Given the description of an element on the screen output the (x, y) to click on. 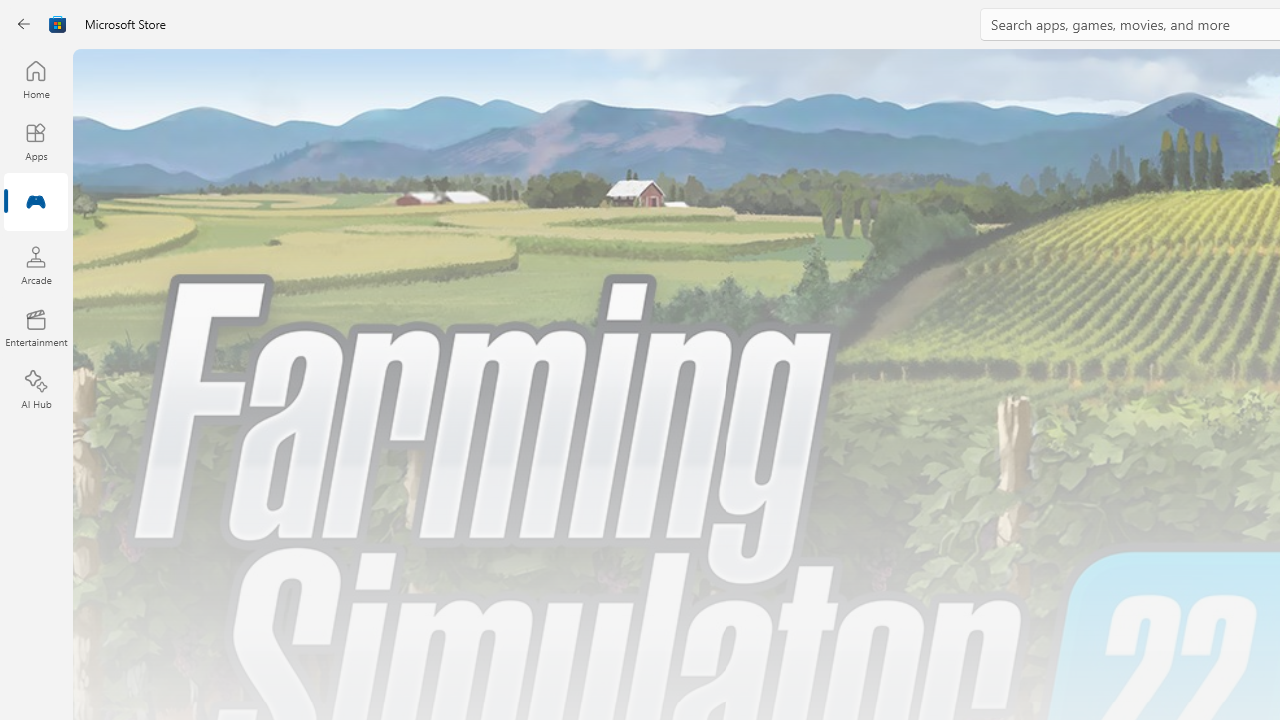
Back (24, 24)
